Given the description of an element on the screen output the (x, y) to click on. 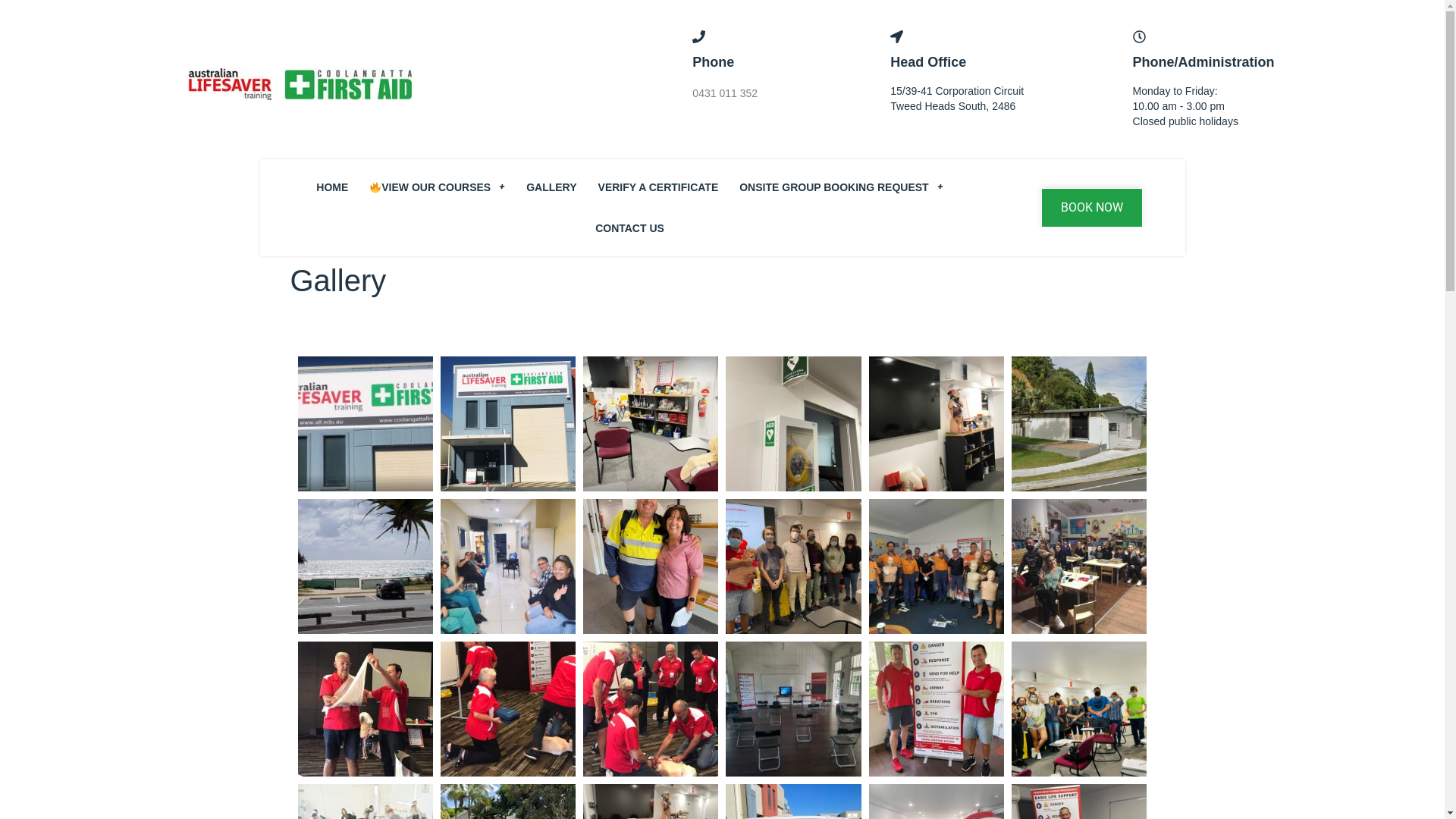
Onsite set up at Currumbin Element type: hover (793, 708)
Friends at First Aid Training Element type: hover (650, 566)
0431 011 352 Element type: text (724, 93)
Training room at Tweed Heads South Element type: hover (507, 423)
186122815_3617703655002129_5160981568426747374_n Element type: hover (507, 708)
GALLERY Element type: text (550, 186)
coolangattafirstaid Element type: hover (365, 423)
VERIFY A CERTIFICATE Element type: text (658, 186)
Onsite Training Element type: hover (507, 565)
Greg King Element type: hover (936, 708)
CONTACT US Element type: text (629, 227)
BOOK NOW Element type: text (1091, 207)
First Aid Training Tweed Heads Element type: hover (793, 565)
VIEW OUR COURSES Element type: text (436, 186)
coolangattafirstaid1 Element type: hover (650, 423)
australian_lifesaver_training_team Element type: hover (650, 708)
Alley Board Riders Training Room - Currumbin Element type: hover (1079, 423)
Onsite group training Element type: hover (1079, 565)
Onsite Training Element type: hover (936, 565)
HOME Element type: text (331, 186)
defibrillator on site  Element type: hover (792, 423)
ONSITE GROUP BOOKING REQUEST Element type: text (840, 186)
Large Presentation Screen Element type: hover (936, 423)
First Aid Training - Tweed Heads South Element type: hover (1079, 708)
184860609_3617546991684462_7083739184920353118_n Element type: hover (364, 708)
View from our Currumbin Training Room Element type: hover (365, 565)
